Given the description of an element on the screen output the (x, y) to click on. 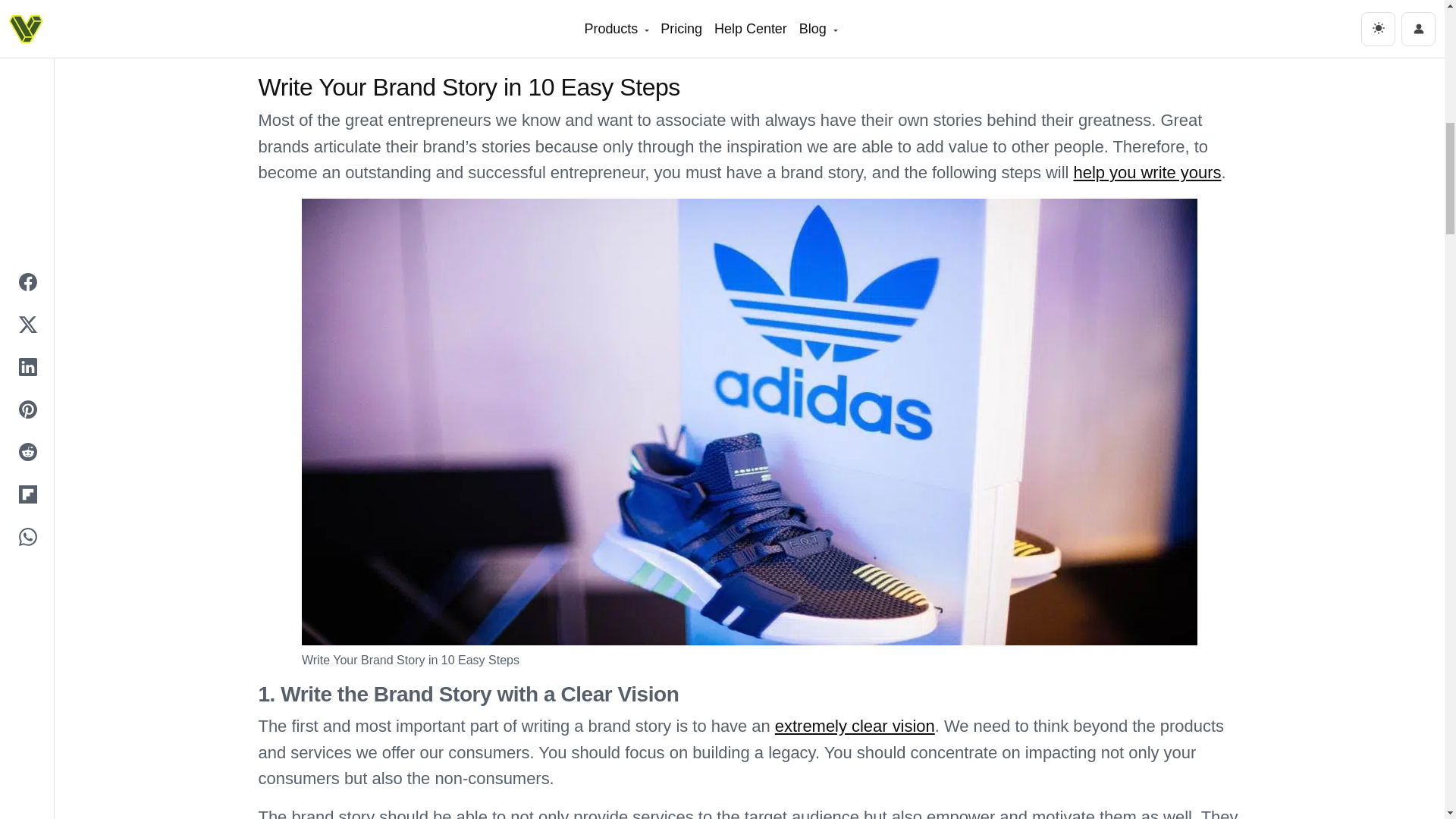
help you write yours (1147, 171)
extremely clear vision (854, 725)
